Given the description of an element on the screen output the (x, y) to click on. 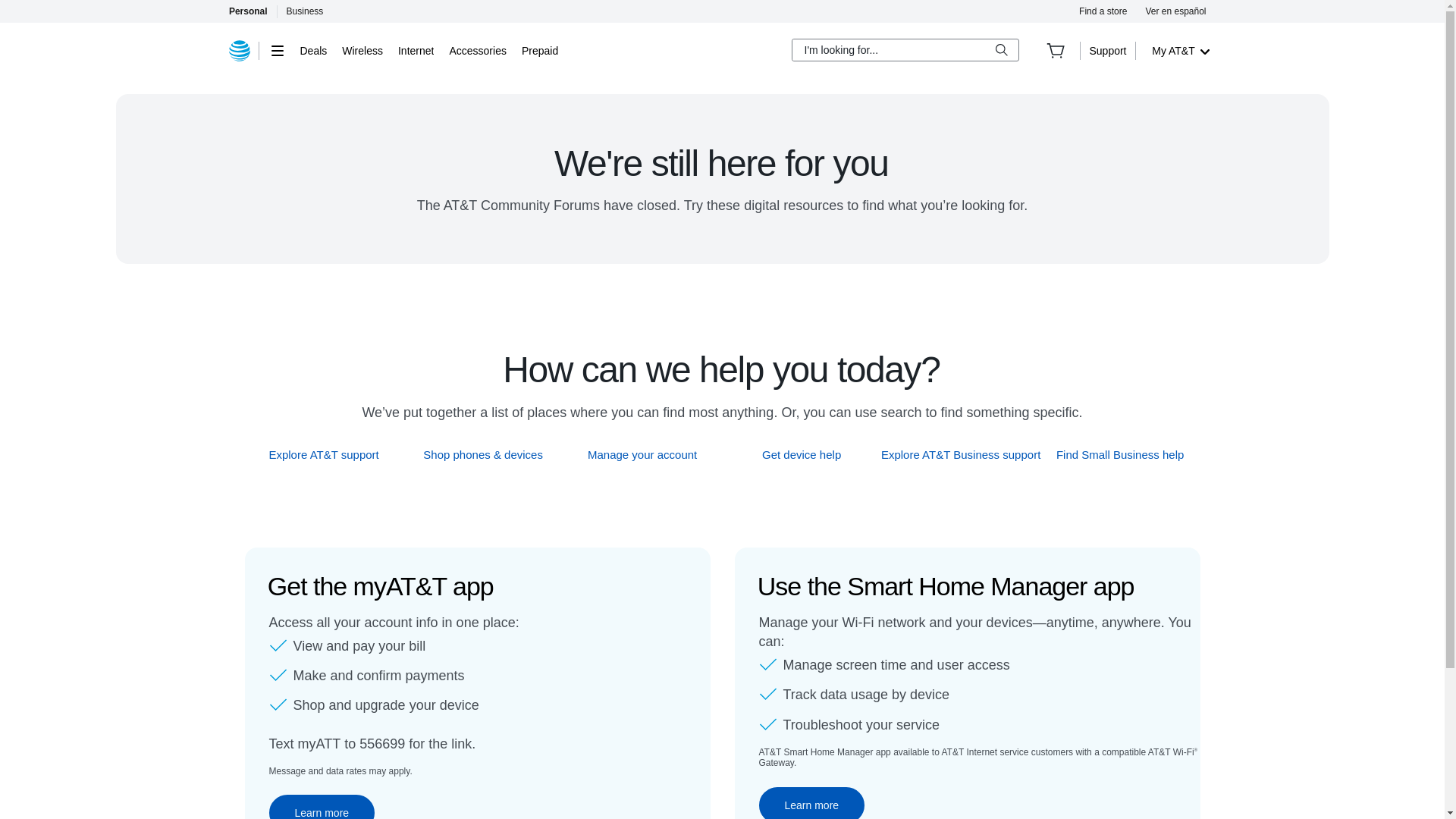
Find a store (1102, 10)
Find Small Business help (1121, 454)
Personal (247, 10)
Wireless (362, 50)
Search (1000, 50)
Manage your account (642, 454)
Support (1107, 50)
Prepaid (539, 50)
Learn more (320, 806)
Business (305, 10)
